Given the description of an element on the screen output the (x, y) to click on. 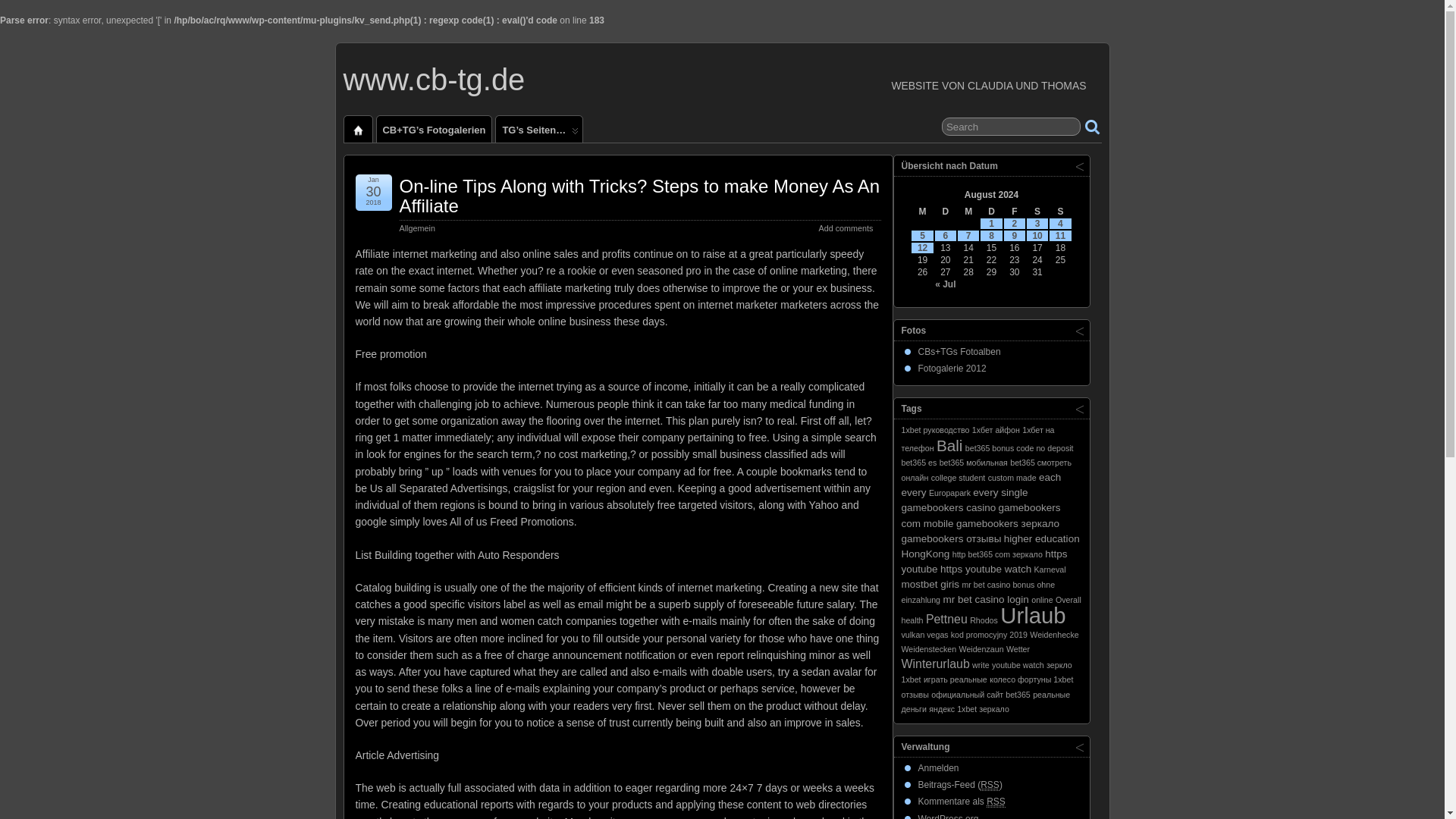
Search (1011, 126)
bet365 bonus code no deposit (1019, 447)
Allgemein (415, 227)
Search (1011, 126)
bet365 es (918, 461)
Add comments (845, 227)
Samstag (1037, 211)
